Given the description of an element on the screen output the (x, y) to click on. 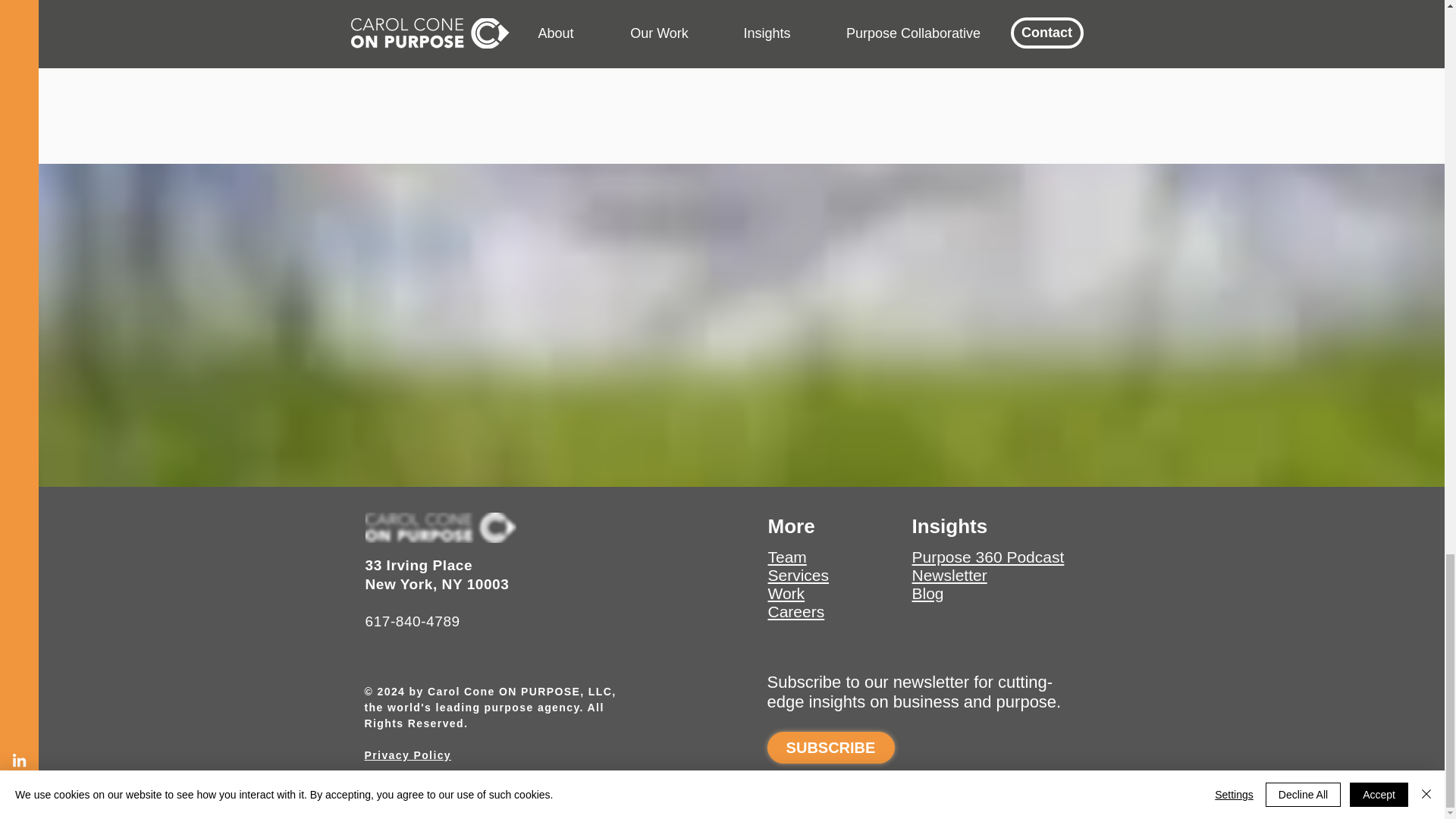
Purpose 360 Podcast (987, 556)
Careers (795, 610)
Team (786, 556)
Privacy Policy (407, 755)
Work (786, 592)
Blog (927, 592)
SUBSCRIBE (831, 747)
Newsletter (949, 574)
Services (797, 574)
